Given the description of an element on the screen output the (x, y) to click on. 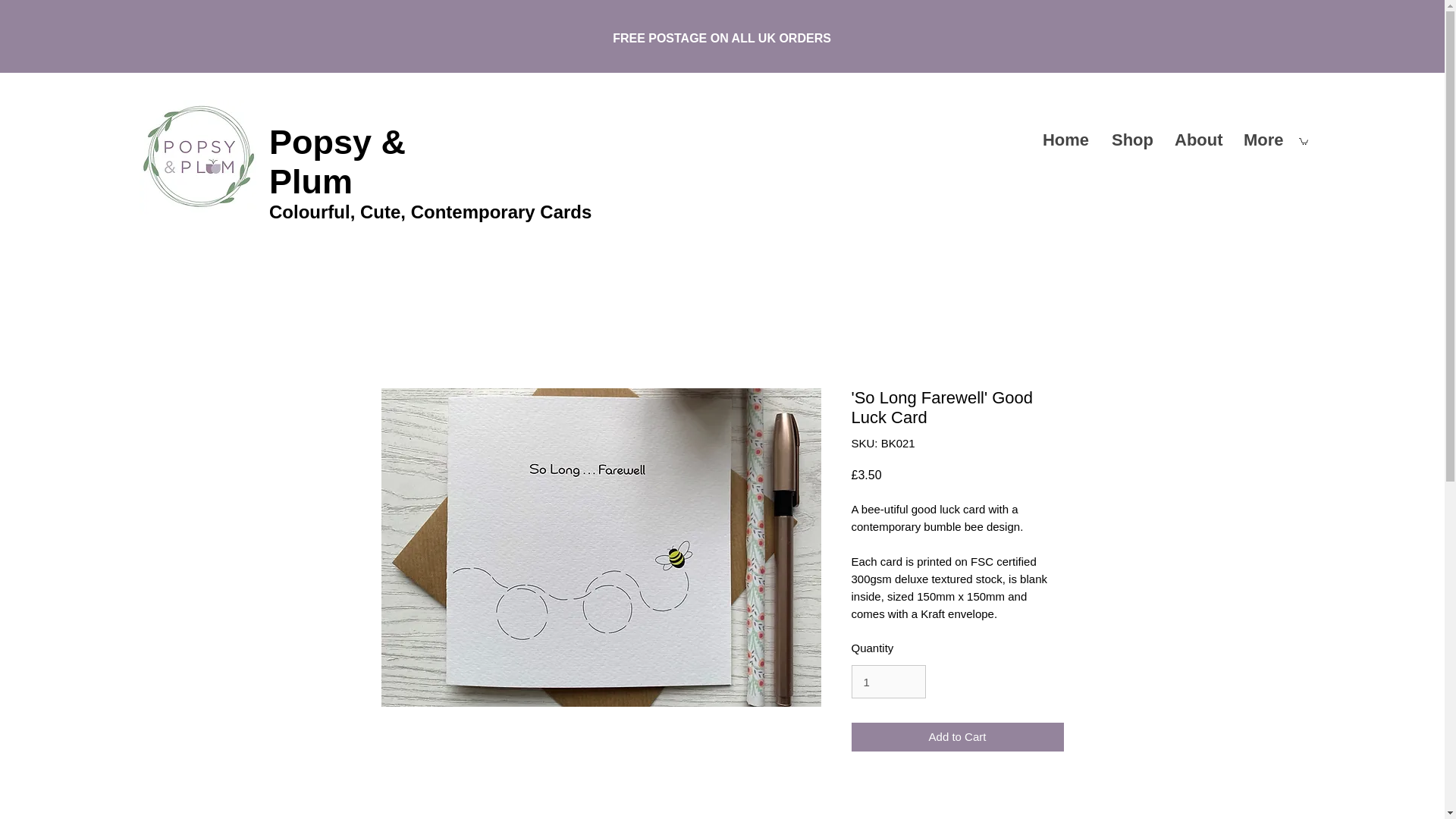
Add to Cart (956, 737)
Shop (1131, 139)
Home (1065, 139)
About (1197, 139)
1 (887, 681)
